Given the description of an element on the screen output the (x, y) to click on. 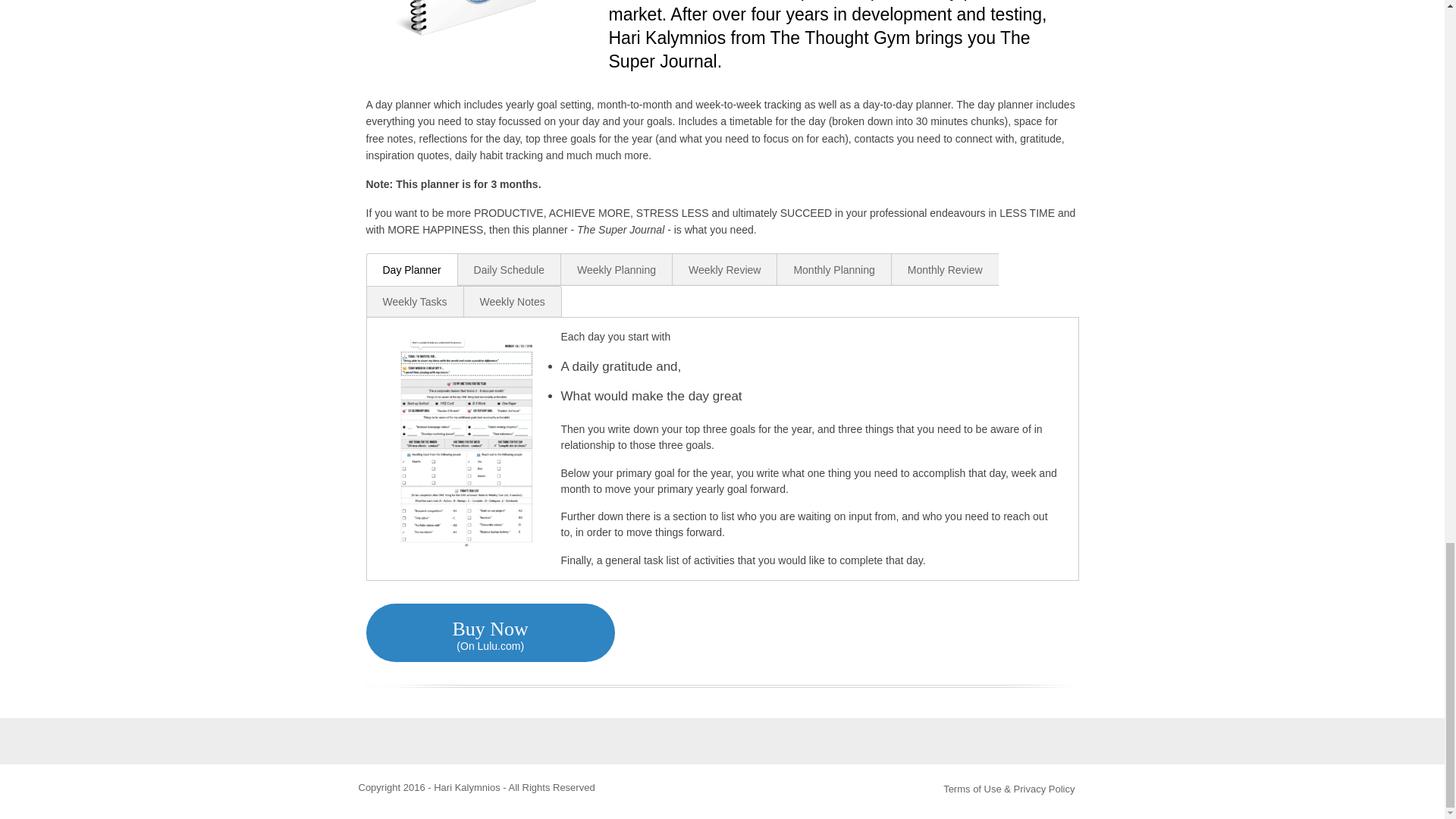
Day Planner (411, 269)
Weekly Review (723, 269)
Weekly Notes (512, 301)
Monthly Planning (832, 269)
Daily Schedule (508, 269)
Weekly Tasks (414, 301)
Weekly Planning (615, 269)
Monthly Review (944, 269)
